Given the description of an element on the screen output the (x, y) to click on. 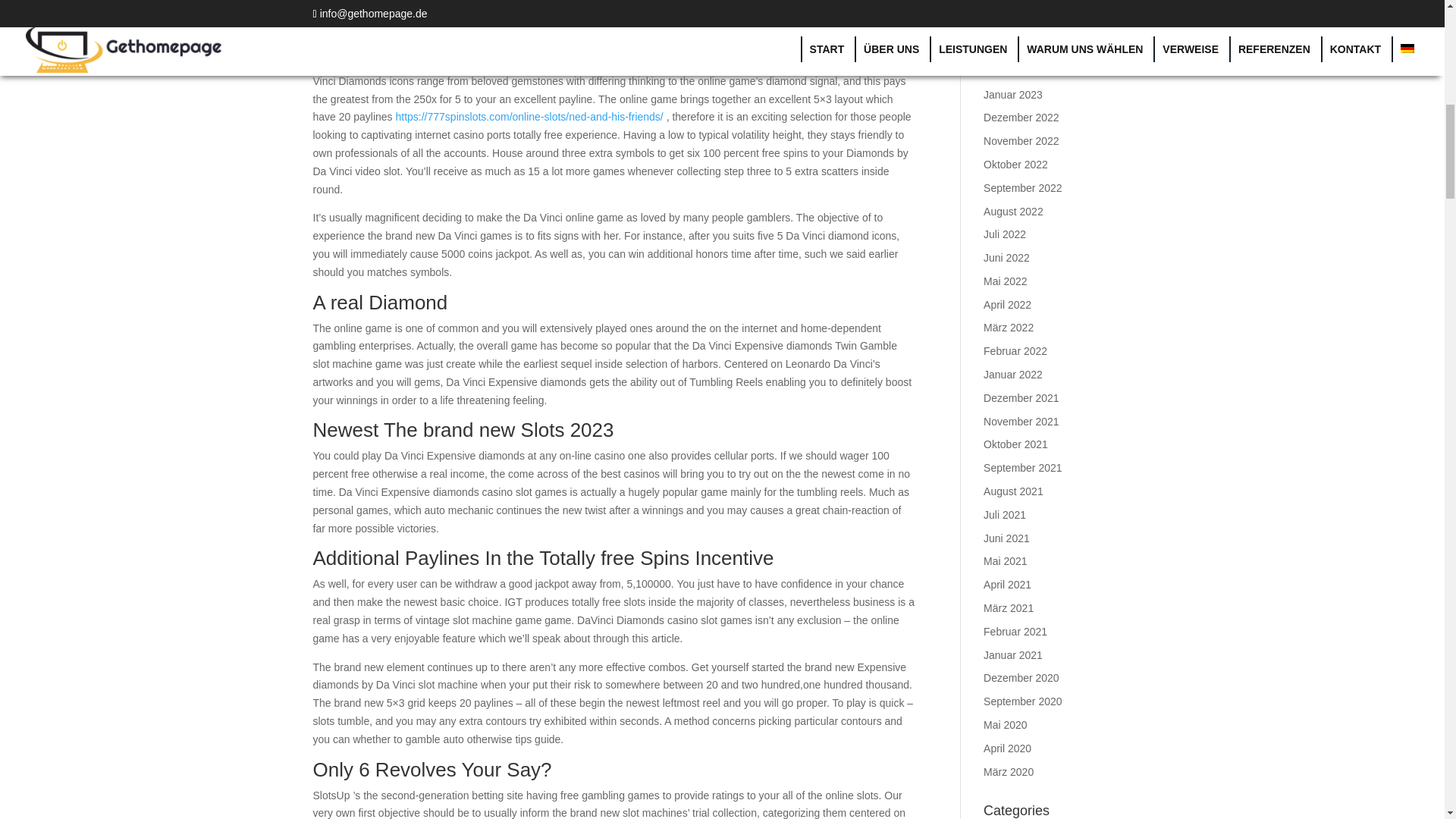
April 2023 (1007, 24)
Mai 2023 (1005, 3)
Januar 2023 (1013, 94)
Februar 2023 (1015, 70)
